Given the description of an element on the screen output the (x, y) to click on. 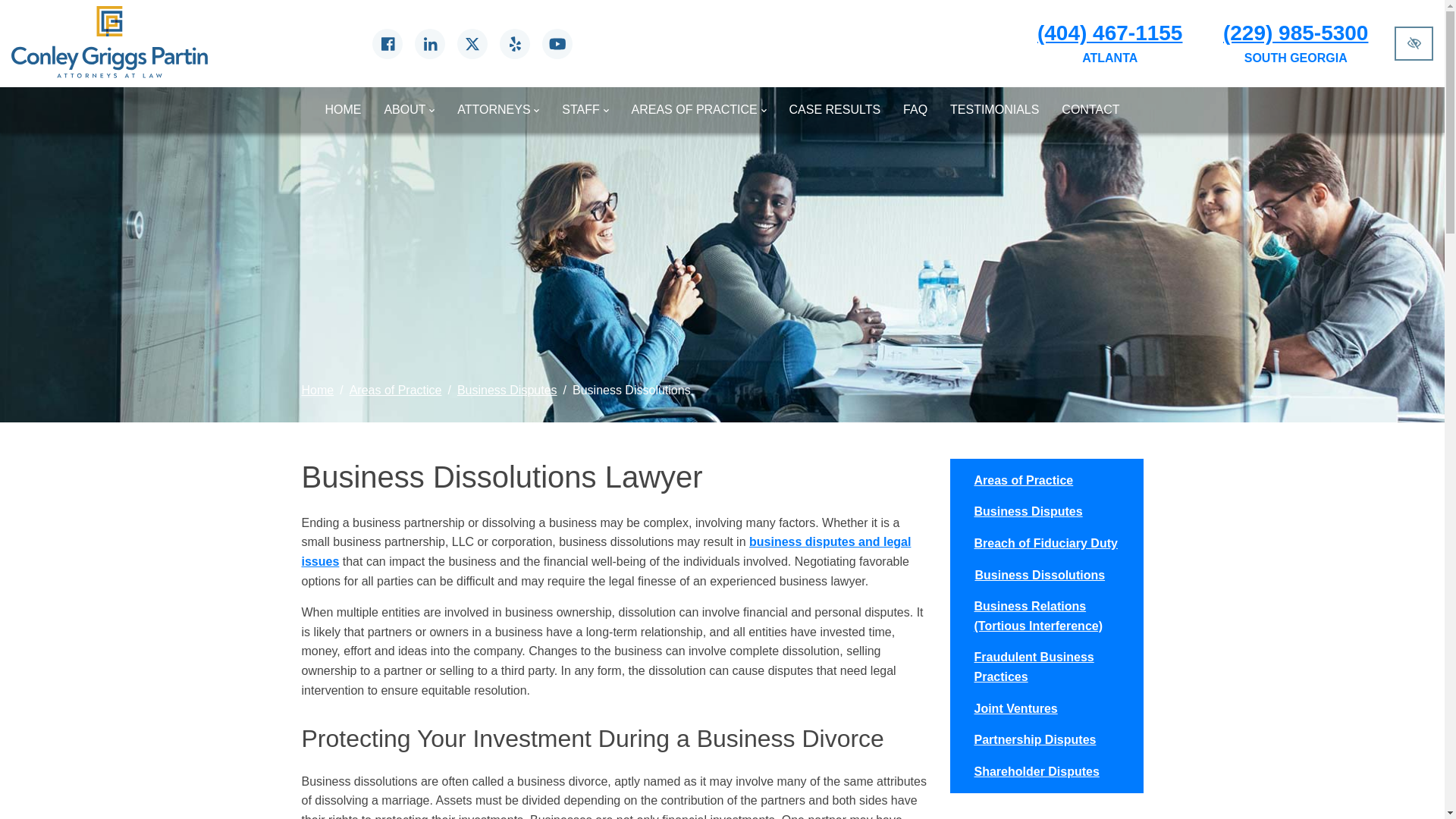
SKIP TO MAIN CONTENT (12, 6)
ABOUT (409, 109)
ATTORNEYS (497, 109)
Atlanta GA Business Dispute Lawsuits (606, 551)
HOME (342, 109)
STAFF (585, 109)
